Given the description of an element on the screen output the (x, y) to click on. 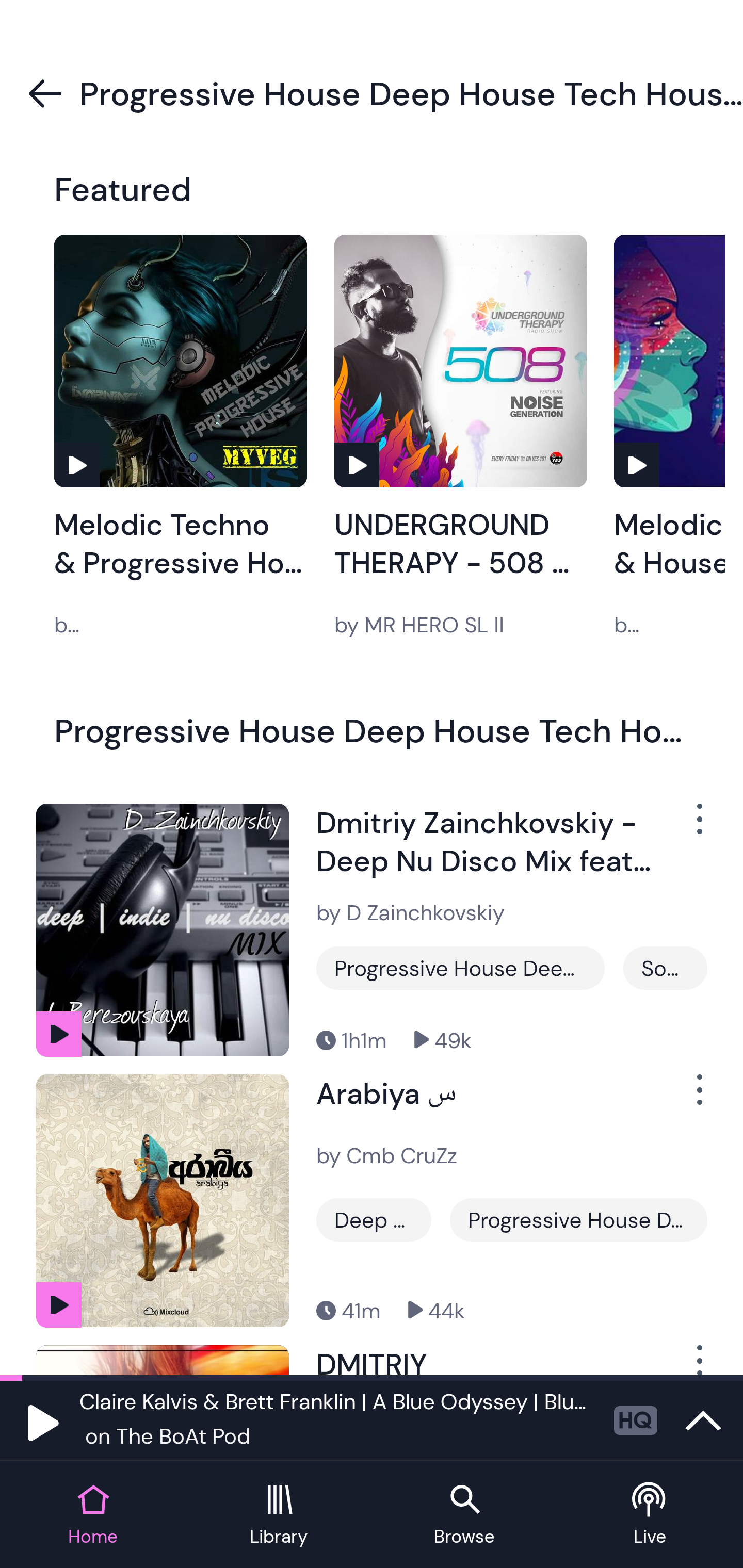
Show Options Menu Button (697, 825)
Progressive House Deep House Tech House (460, 968)
Soulful (664, 968)
Show Options Menu Button (697, 1097)
Deep House (373, 1219)
Progressive House Deep House Tech House (578, 1219)
Home tab Home (92, 1515)
Library tab Library (278, 1515)
Browse tab Browse (464, 1515)
Live tab Live (650, 1515)
